Given the description of an element on the screen output the (x, y) to click on. 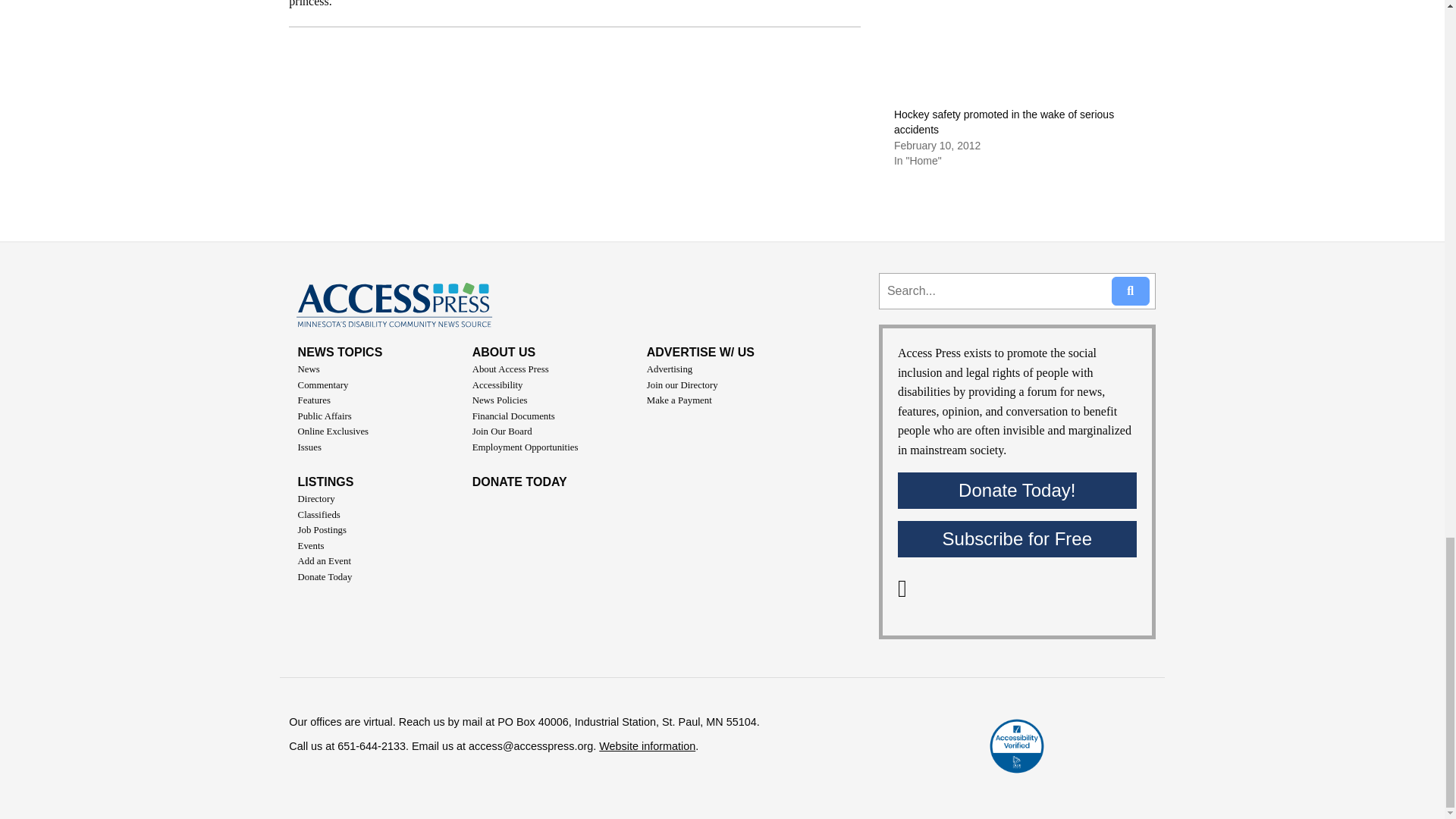
Hockey safety promoted in the wake of serious accidents (1003, 121)
Hockey safety promoted in the wake of serious accidents (1016, 54)
